Given the description of an element on the screen output the (x, y) to click on. 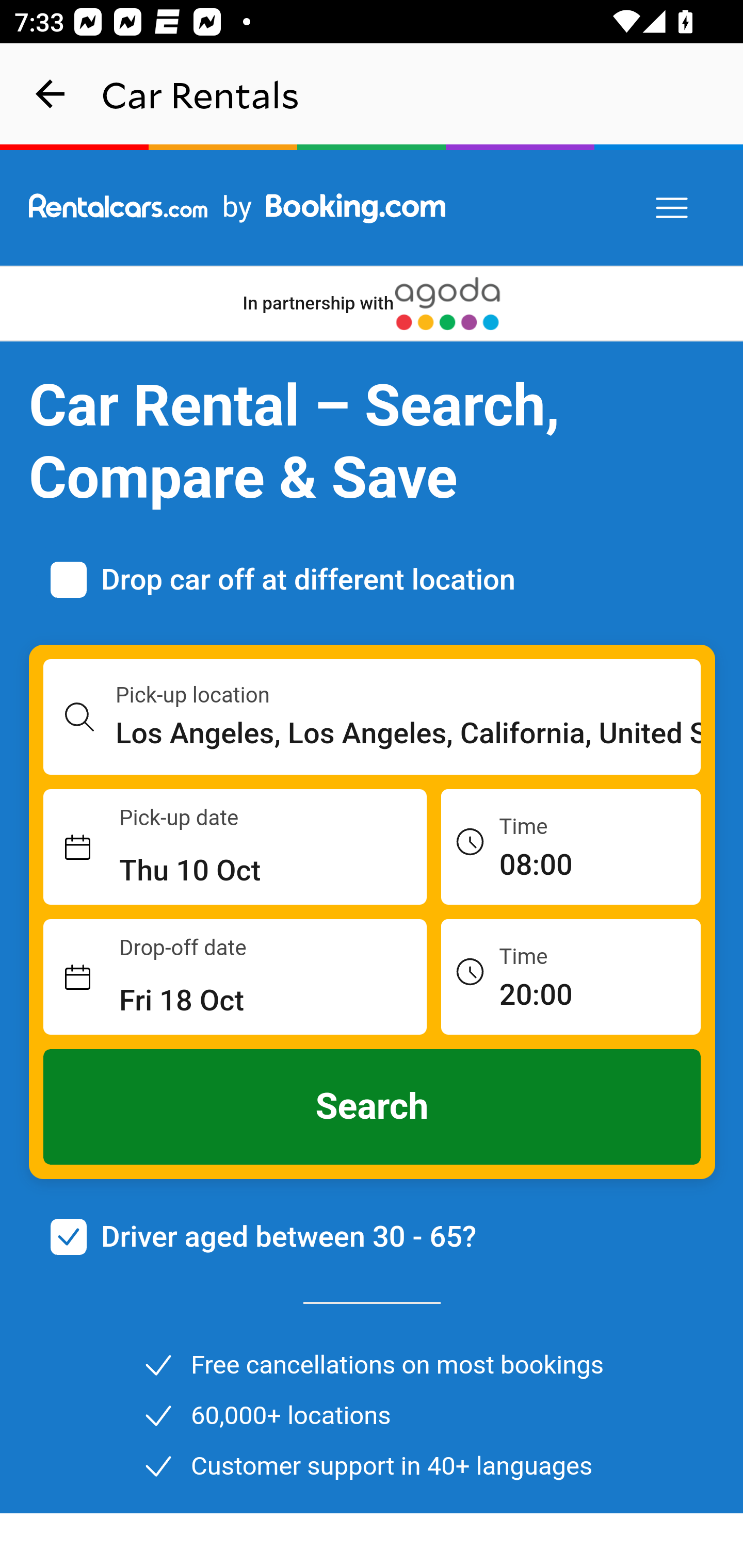
navigation_button (50, 93)
Menu (672, 208)
Pick-up date Thu 10 Oct (235, 847)
08:00 (571, 845)
Drop-off date Fri 18 Oct (235, 977)
20:00 (571, 975)
Search (372, 1106)
